Given the description of an element on the screen output the (x, y) to click on. 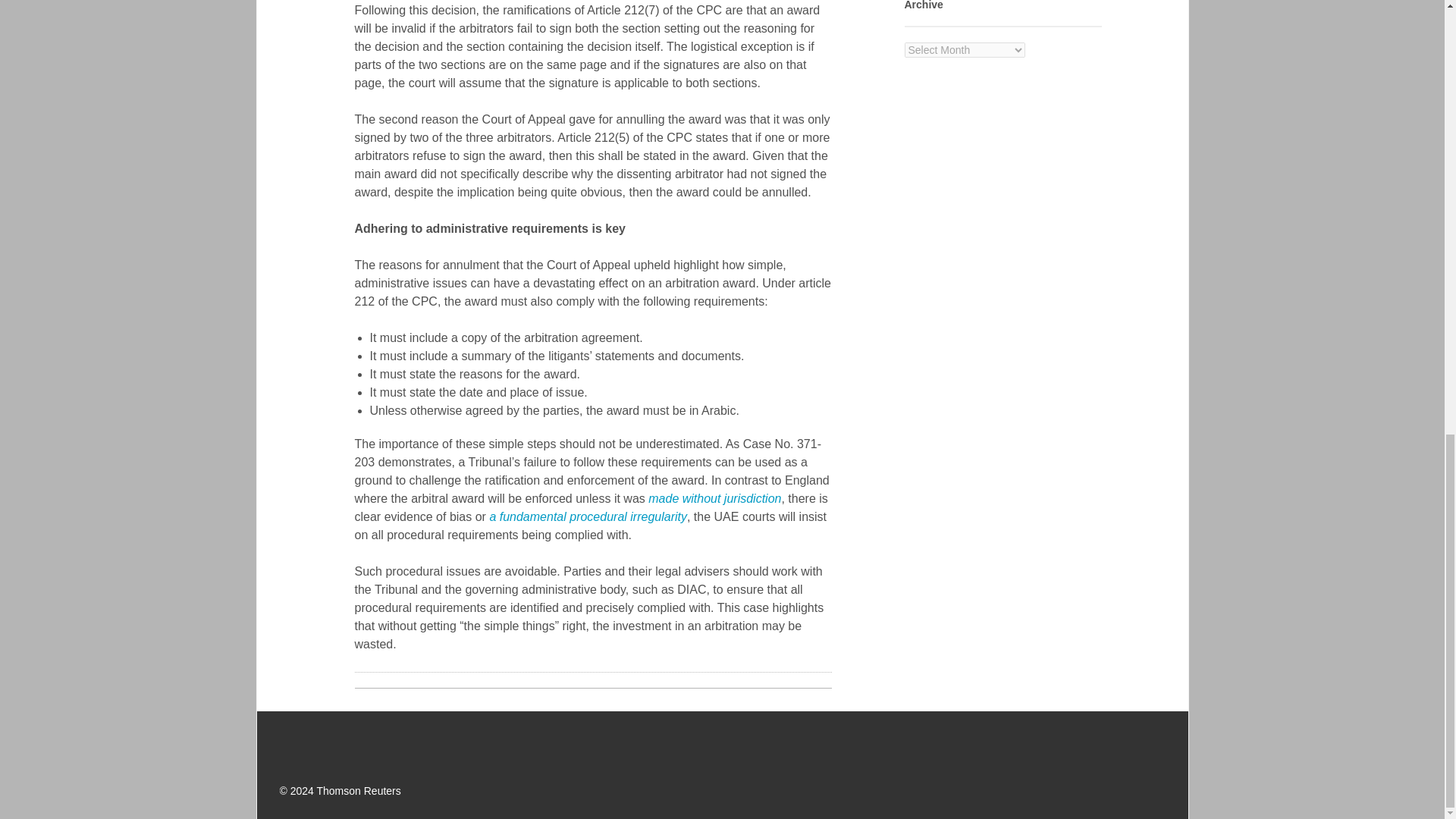
Thomson Reuters (357, 744)
a fundamental procedural irregularity (588, 516)
made without jurisdiction (713, 498)
